Given the description of an element on the screen output the (x, y) to click on. 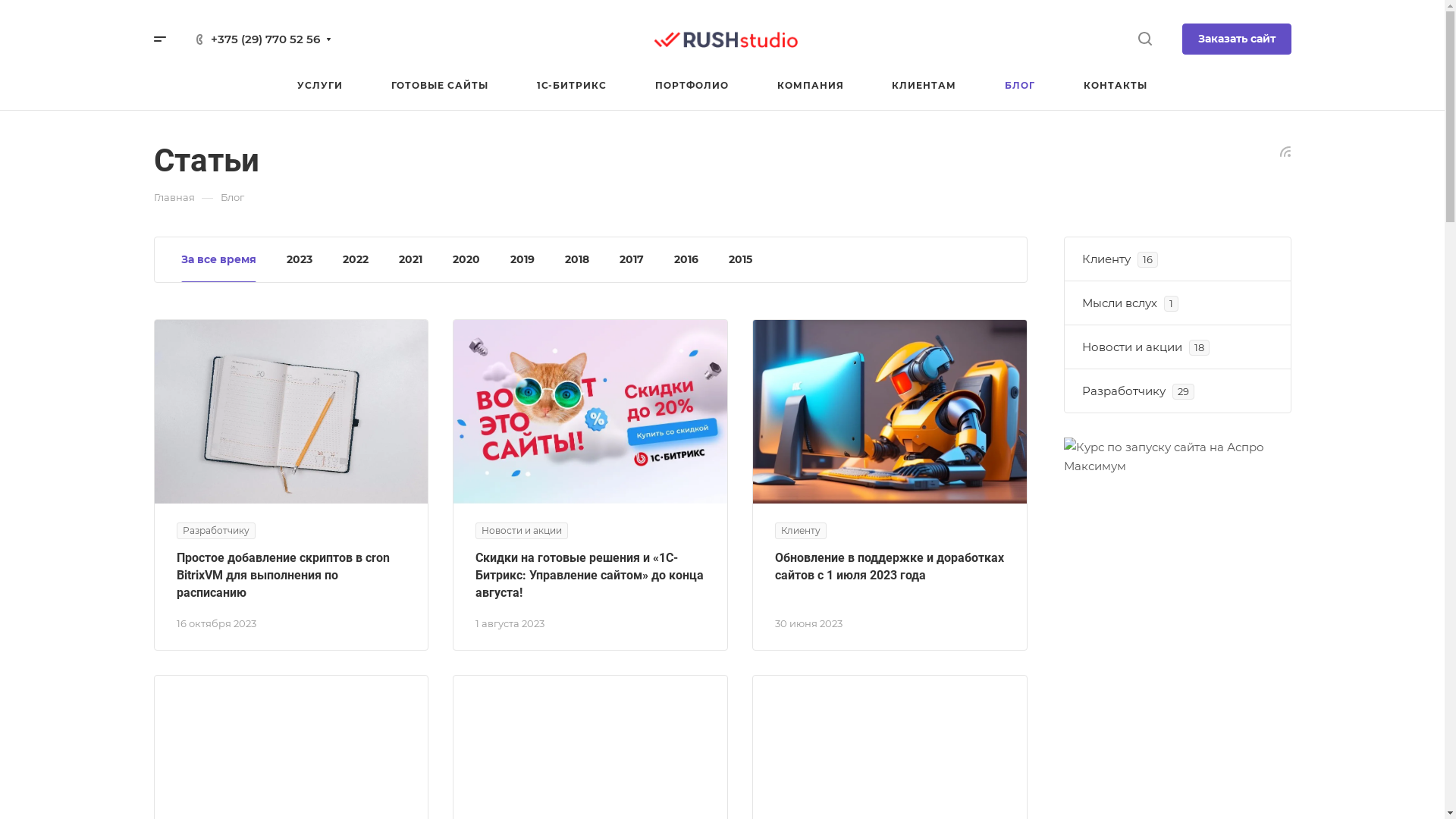
+375 (29) 770 52 56 Element type: text (265, 38)
RSS Element type: hover (1285, 150)
2017 Element type: text (630, 259)
2019 Element type: text (521, 259)
RushStudio.by Element type: hover (726, 39)
2015 Element type: text (739, 259)
2018 Element type: text (576, 259)
2021 Element type: text (410, 259)
2022 Element type: text (355, 259)
2023 Element type: text (299, 259)
2016 Element type: text (685, 259)
2020 Element type: text (465, 259)
